Given the description of an element on the screen output the (x, y) to click on. 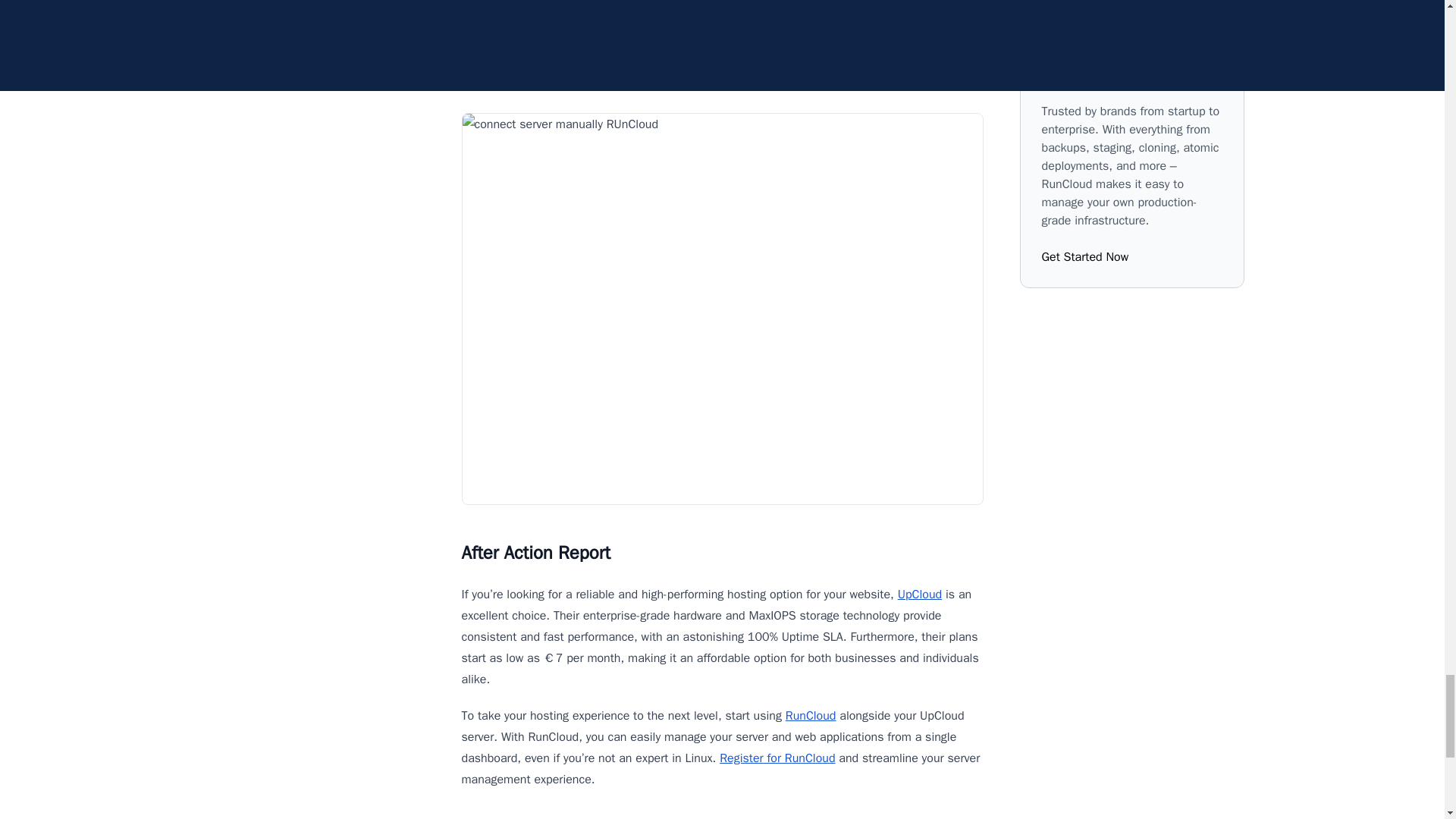
Register for RunCloud (776, 758)
RunCloud (810, 715)
UpCloud (920, 594)
